Given the description of an element on the screen output the (x, y) to click on. 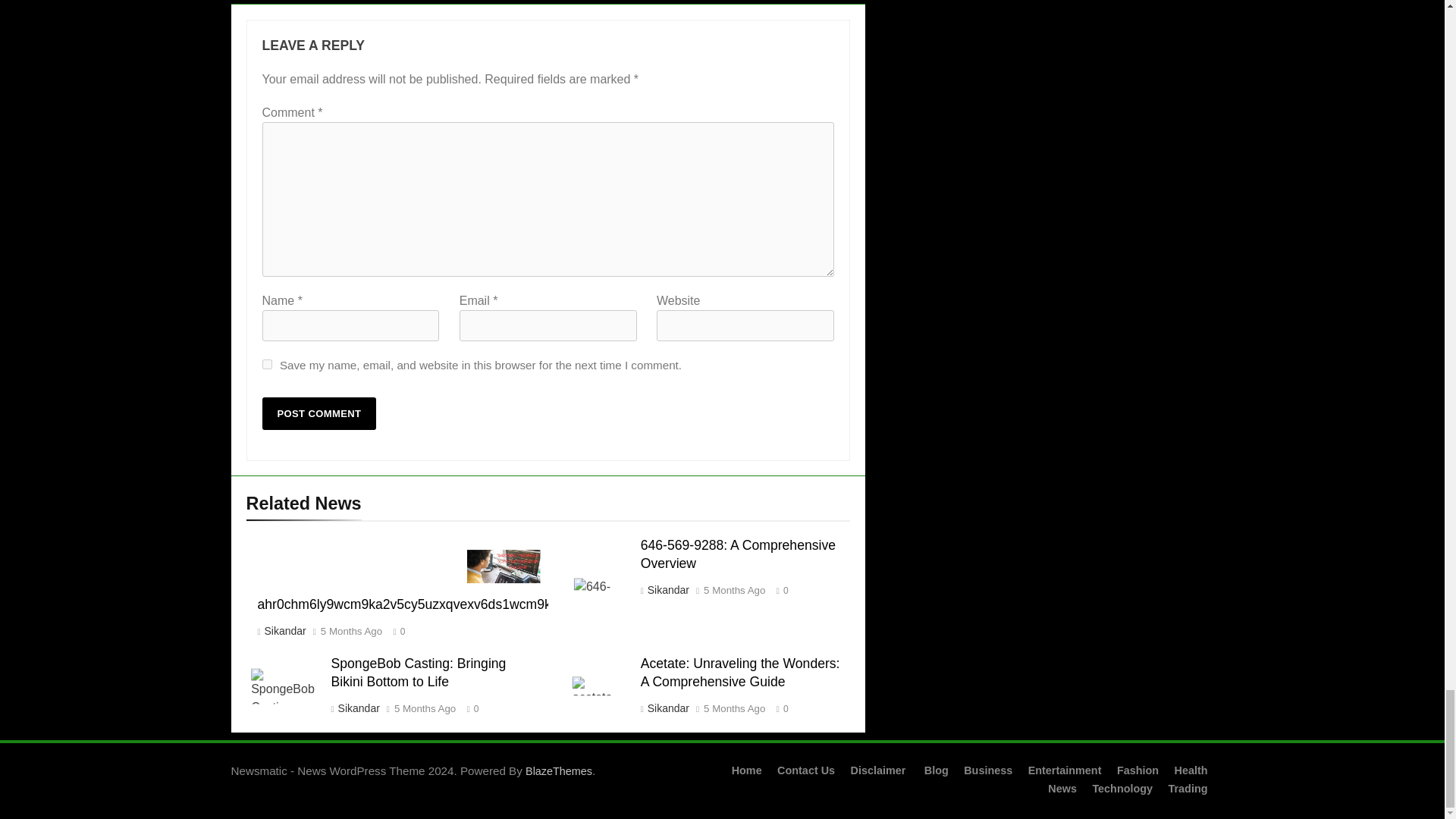
yes (267, 364)
Post Comment (319, 413)
